Given the description of an element on the screen output the (x, y) to click on. 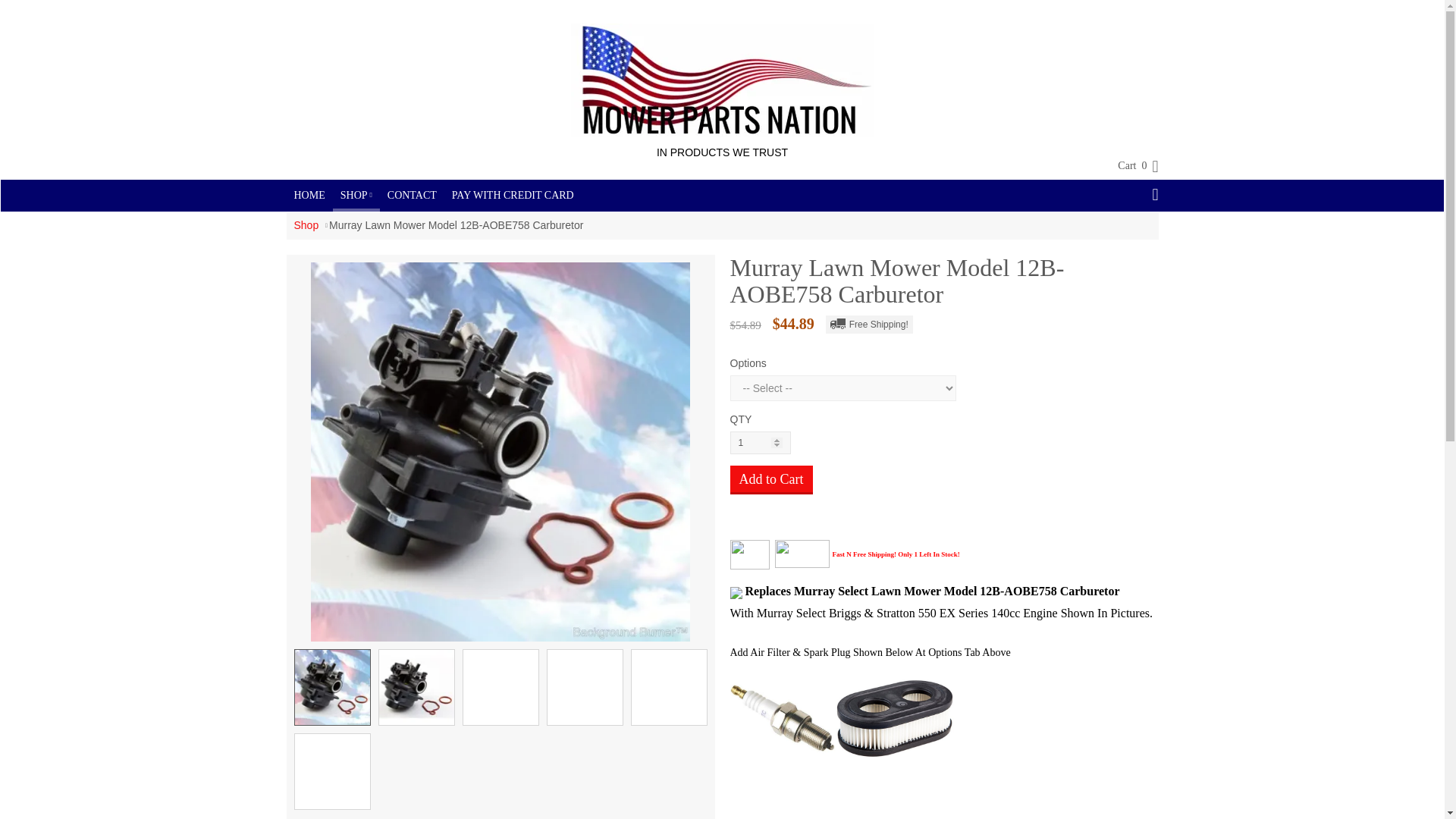
Add to Cart (770, 480)
SHOP (356, 193)
HOME (309, 195)
Cart  0   (1129, 166)
1 (759, 442)
